Given the description of an element on the screen output the (x, y) to click on. 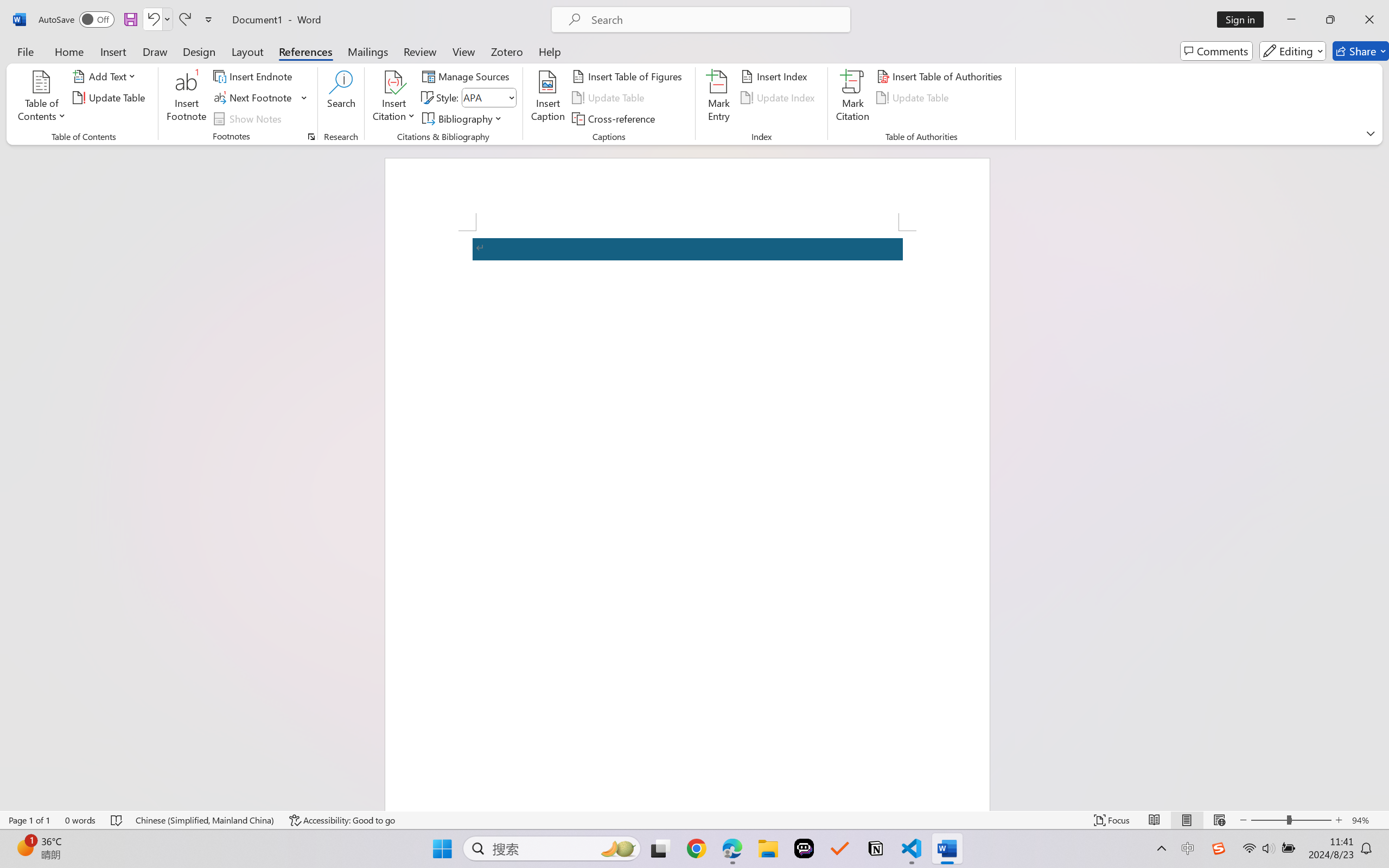
Update Table... (110, 97)
Table of Contents (42, 97)
Undo Apply Quick Style Set (152, 19)
Redo Apply Quick Style (184, 19)
Show Notes (248, 118)
Next Footnote (260, 97)
Editing (1292, 50)
Mark Entry... (718, 97)
Insert Index... (775, 75)
